Given the description of an element on the screen output the (x, y) to click on. 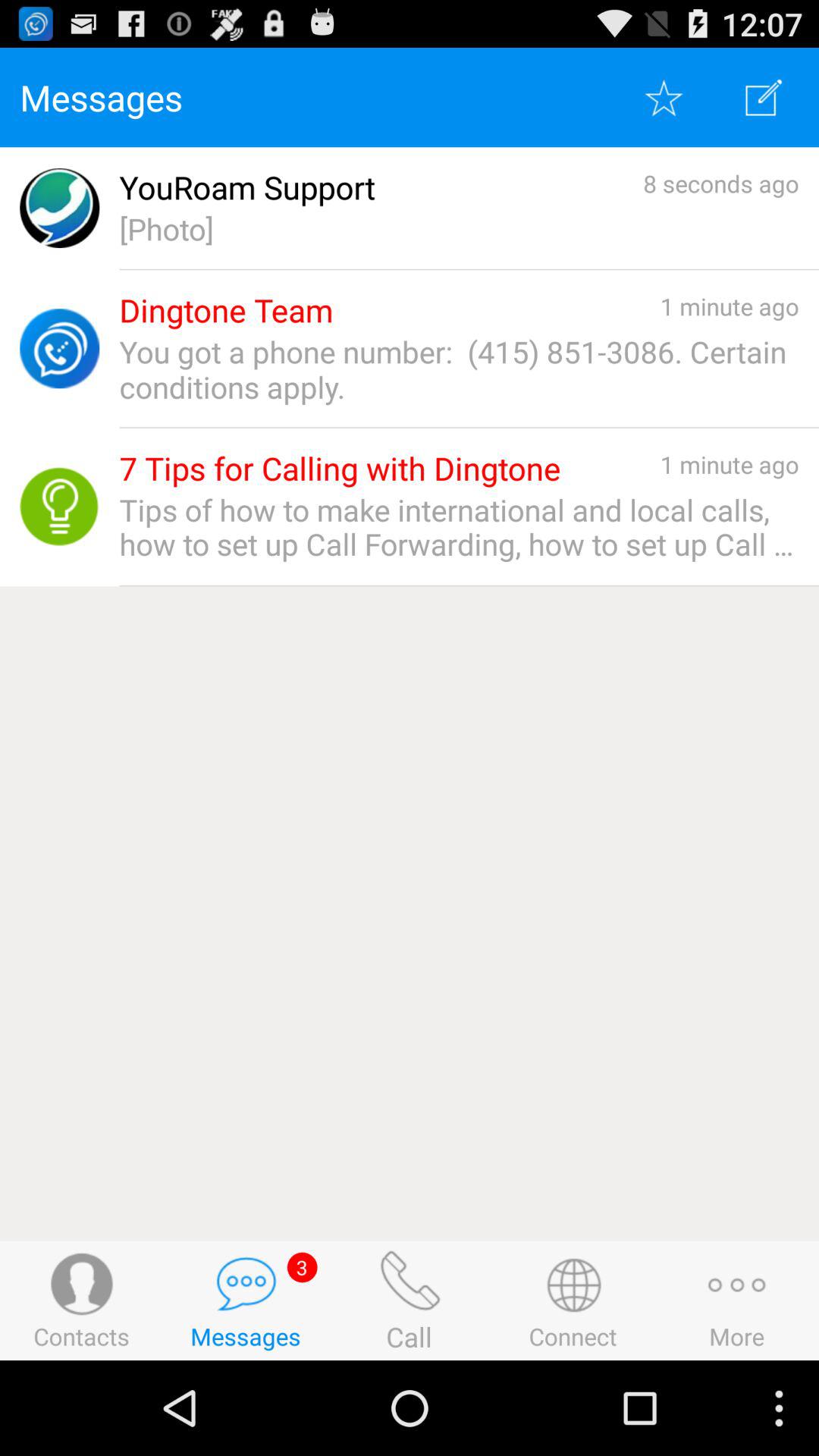
choose icon below the 7 tips for item (459, 527)
